Given the description of an element on the screen output the (x, y) to click on. 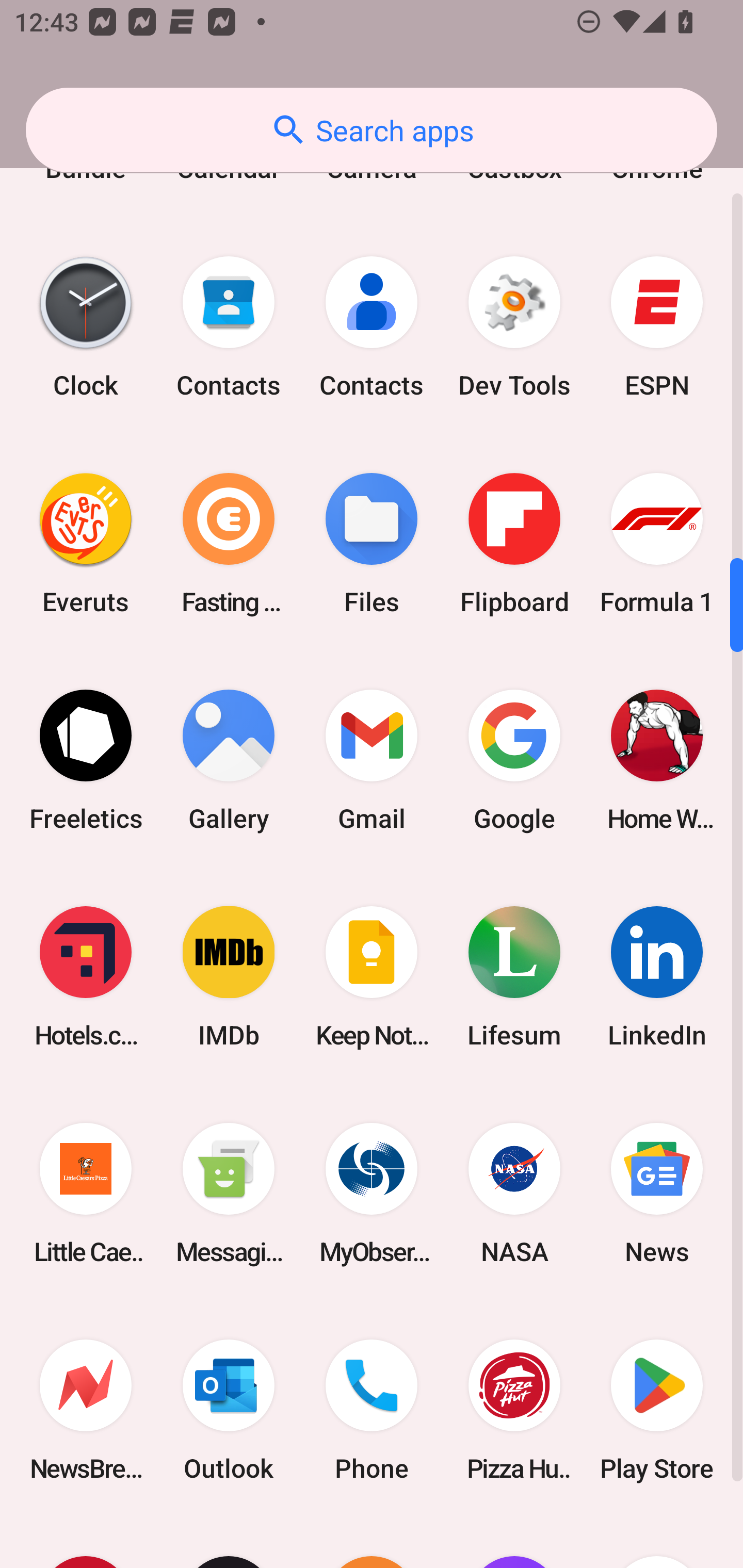
  Search apps (371, 130)
Clock (85, 326)
Contacts (228, 326)
Contacts (371, 326)
Dev Tools (514, 326)
ESPN (656, 326)
Everuts (85, 543)
Fasting Coach (228, 543)
Files (371, 543)
Flipboard (514, 543)
Formula 1 (656, 543)
Freeletics (85, 760)
Gallery (228, 760)
Gmail (371, 760)
Google (514, 760)
Home Workout (656, 760)
Hotels.com (85, 976)
IMDb (228, 976)
Keep Notes (371, 976)
Lifesum (514, 976)
LinkedIn (656, 976)
Little Caesars Pizza (85, 1193)
Messaging (228, 1193)
MyObservatory (371, 1193)
NASA (514, 1193)
News (656, 1193)
NewsBreak (85, 1409)
Outlook (228, 1409)
Phone (371, 1409)
Pizza Hut HK & Macau (514, 1409)
Play Store (656, 1409)
